Given the description of an element on the screen output the (x, y) to click on. 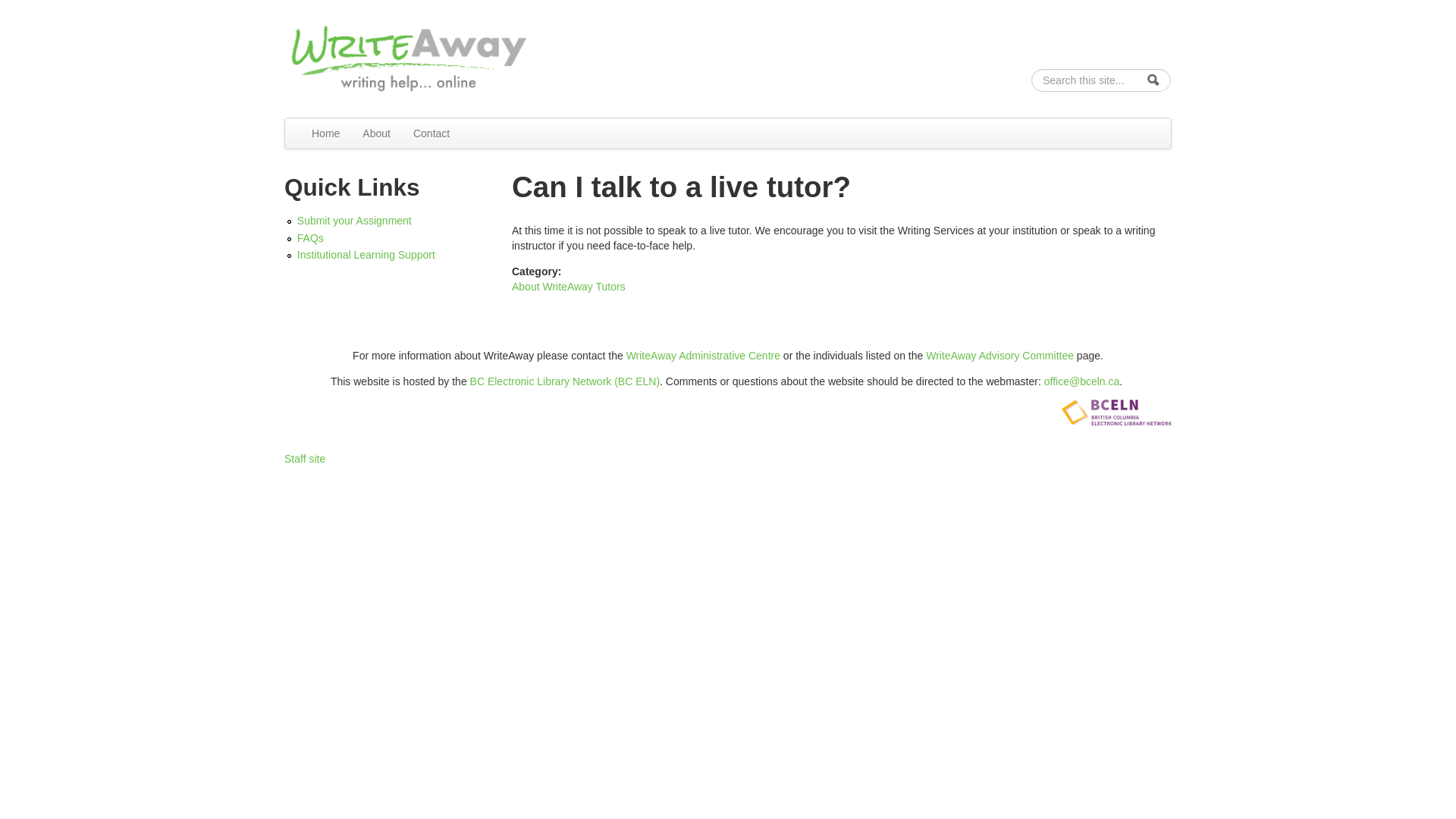
Institutional Learning Support Element type: text (390, 254)
Skip to navigation Element type: text (42, 18)
office@bceln.ca Element type: text (1082, 381)
Home Element type: text (325, 133)
FAQs Element type: text (390, 237)
Contact Element type: text (431, 133)
WriteAway Administrative Centre Element type: text (703, 355)
BC Electronic Library Network (BC ELN) Element type: text (565, 381)
About Element type: text (376, 133)
About WriteAway Tutors Element type: text (568, 286)
Home Element type: hover (408, 56)
WriteAway Advisory Committee Element type: text (999, 355)
Submit your Assignment Element type: text (390, 220)
Skip to content Element type: text (35, 18)
Staff site Element type: text (304, 458)
Enter the terms you wish to search for. Element type: hover (1100, 80)
